Given the description of an element on the screen output the (x, y) to click on. 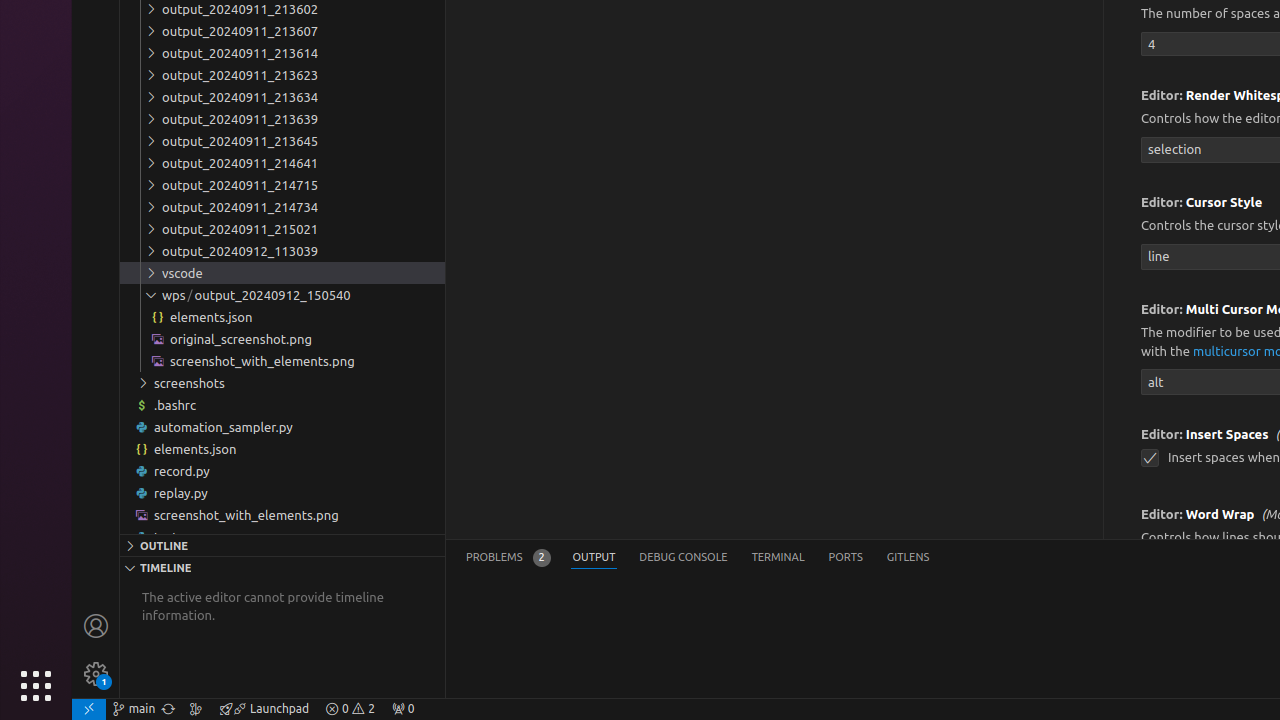
output_20240912_150540, compact, wps Element type: tree-item (272, 295)
wps Element type: tree-item (178, 295)
.bashrc Element type: tree-item (282, 404)
Show the GitLens Commit Graph Element type: push-button (196, 709)
More Actions... (Shift+F9) Element type: push-button (1116, 512)
